Given the description of an element on the screen output the (x, y) to click on. 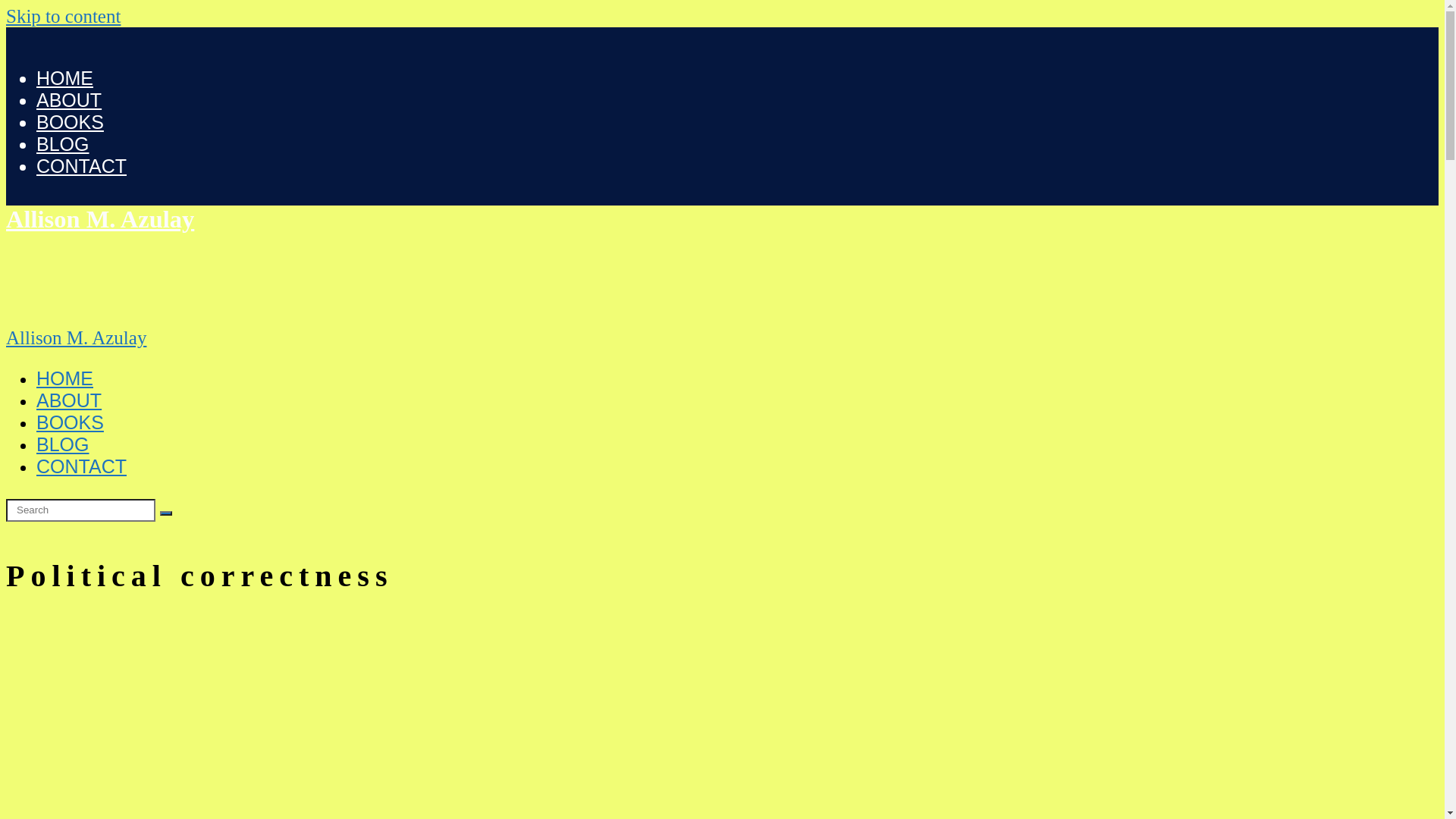
Allison M. Azulay Element type: text (100, 218)
CONTACT Element type: text (81, 165)
Skip to content Element type: text (63, 16)
HOME Element type: text (64, 77)
BLOG Element type: text (62, 143)
BOOKS Element type: text (69, 121)
CONTACT Element type: text (81, 465)
ABOUT Element type: text (68, 400)
HOME Element type: text (64, 378)
ABOUT Element type: text (68, 99)
BOOKS Element type: text (69, 422)
Allison M. Azulay Element type: text (76, 337)
BLOG Element type: text (62, 444)
